Given the description of an element on the screen output the (x, y) to click on. 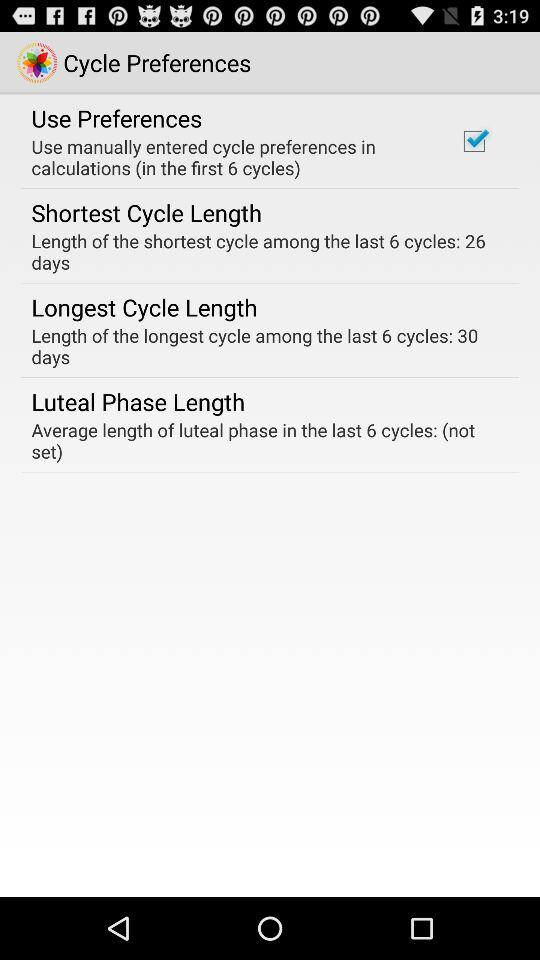
select item above the length of the icon (474, 141)
